Given the description of an element on the screen output the (x, y) to click on. 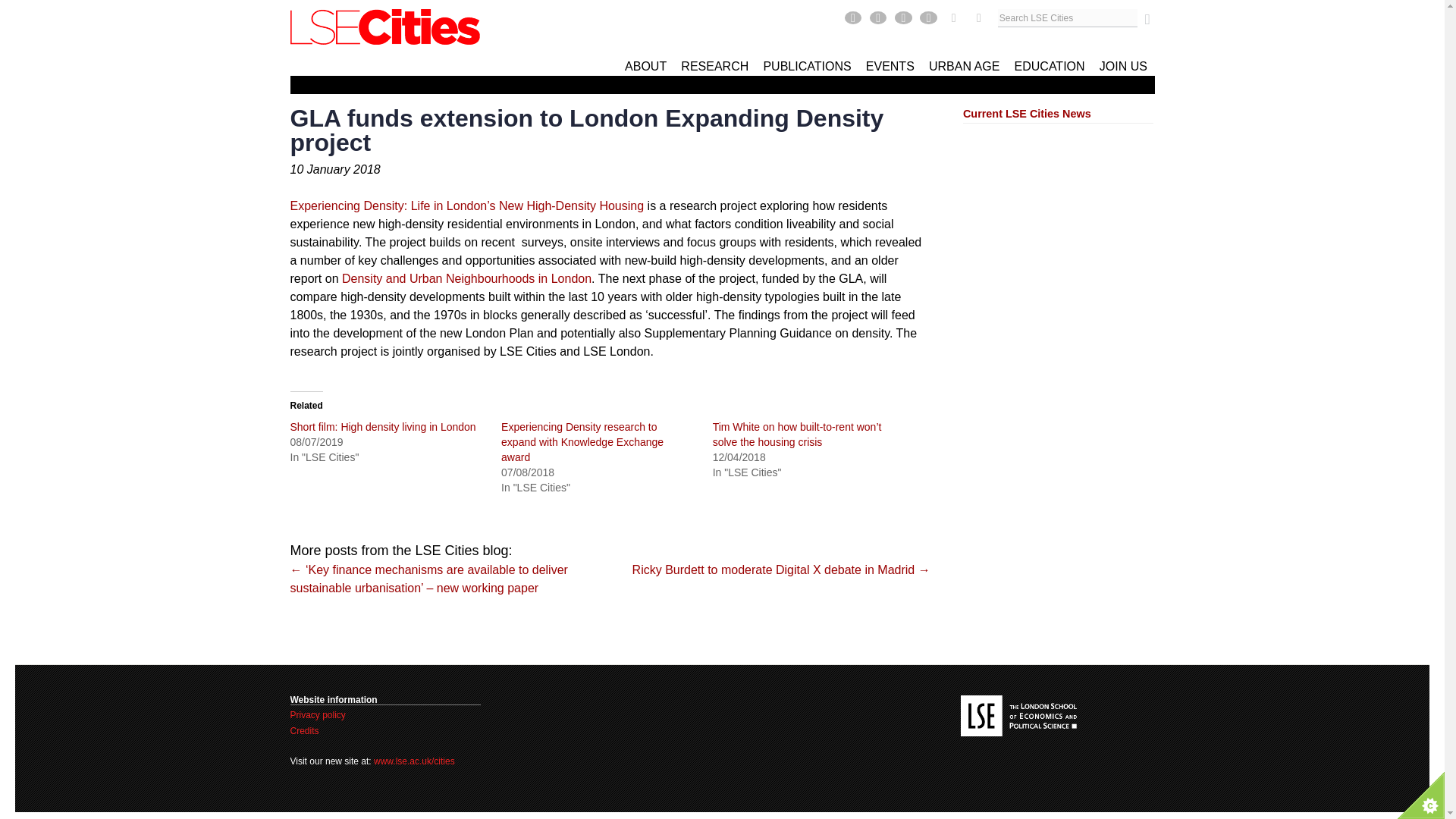
Short film: High density living in London (382, 426)
PUBLICATIONS (807, 64)
Follow us on LinkedIn (930, 17)
JOIN US (1123, 64)
Density and Urban Neighbourhoods in London (466, 278)
Current LSE Cities News (1026, 113)
Privacy policy (317, 715)
News feed (955, 17)
EDUCATION (1049, 64)
Subscribe to email updates (979, 17)
RESEARCH (714, 64)
ABOUT (644, 64)
URBAN AGE (964, 64)
